Given the description of an element on the screen output the (x, y) to click on. 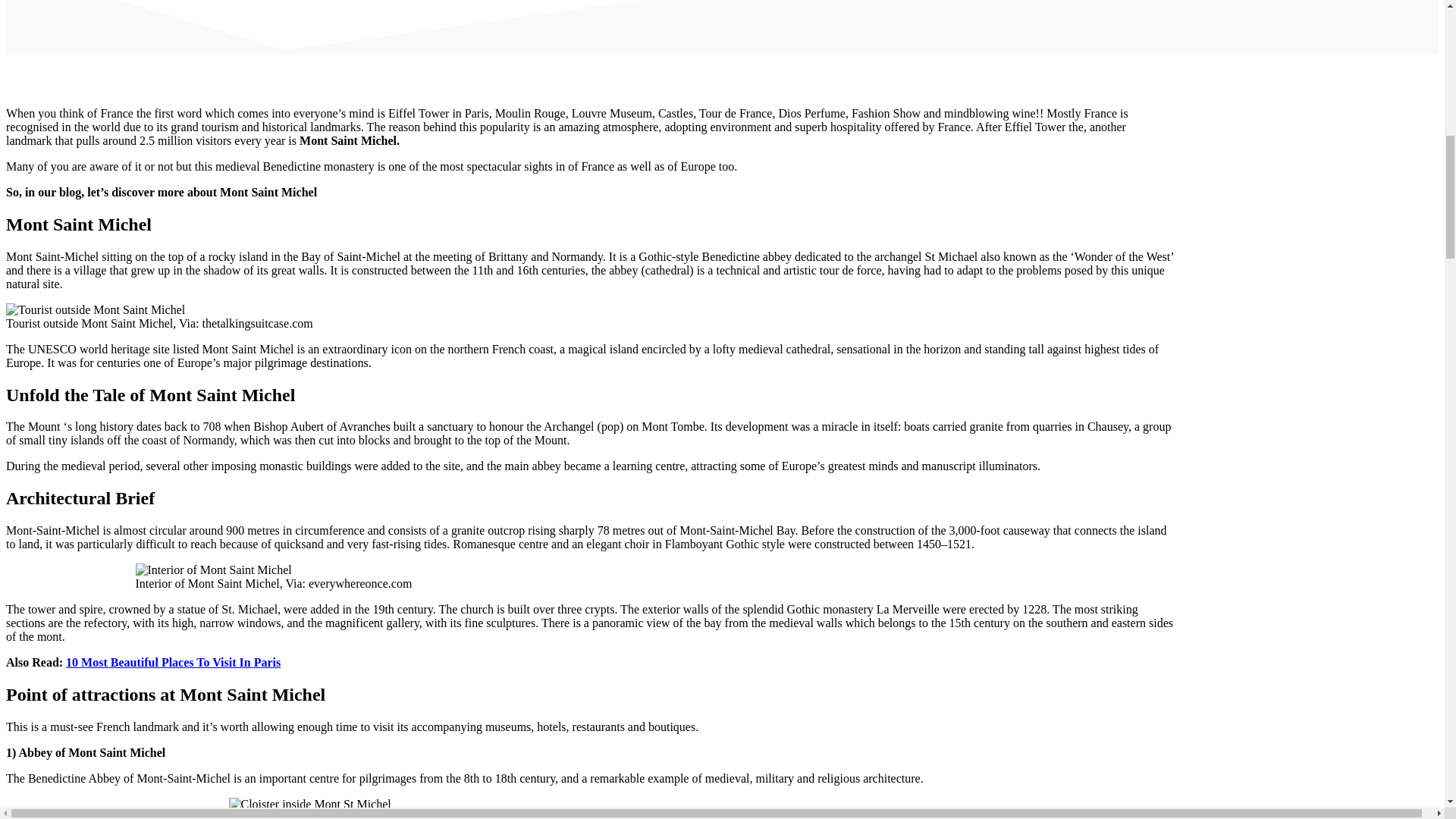
10 Most Beautiful Places To Visit In Paris (173, 662)
10 Most Beautiful Places To Visit In Paris (173, 662)
